Given the description of an element on the screen output the (x, y) to click on. 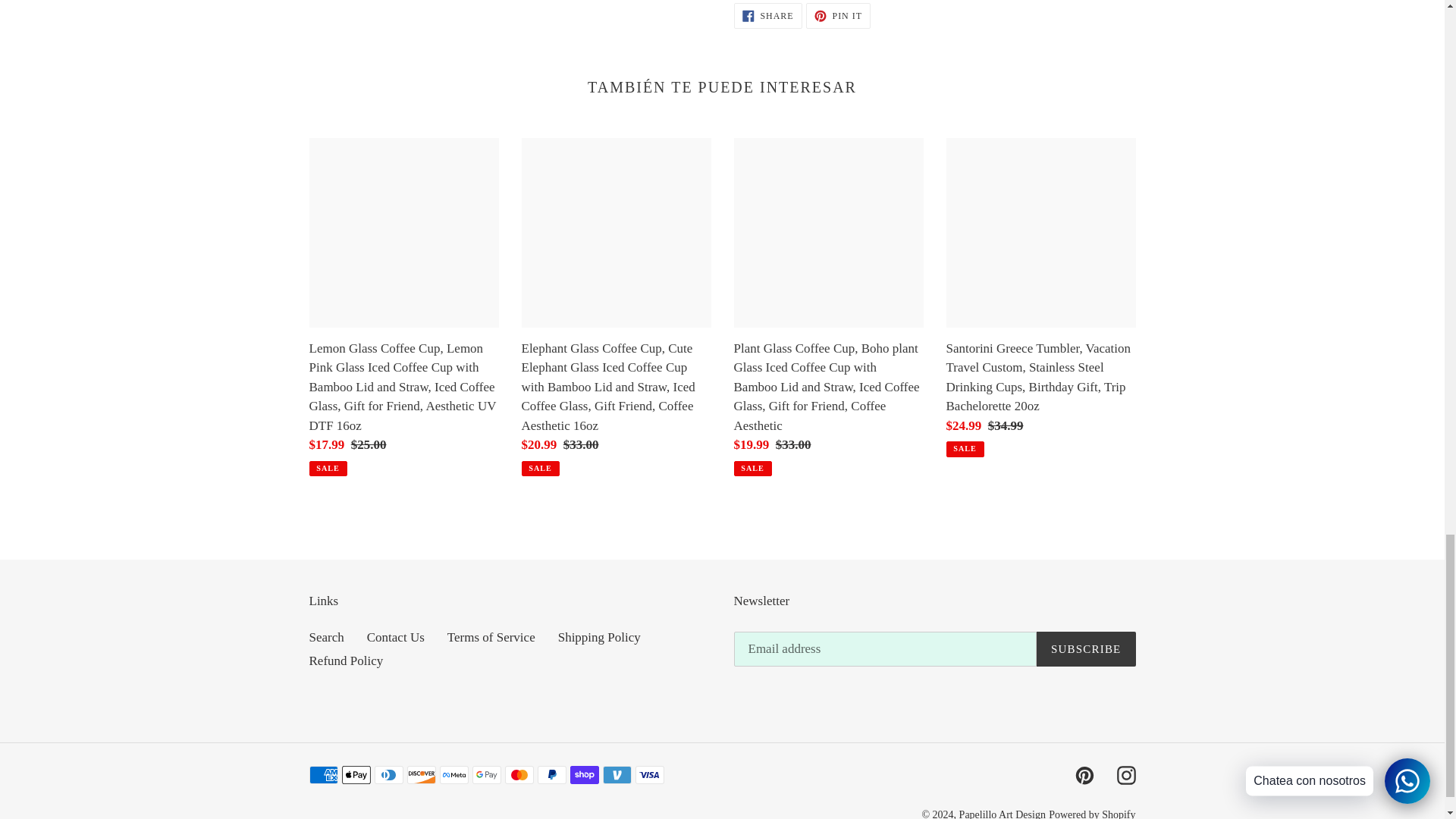
Shipping Policy (598, 636)
Refund Policy (346, 660)
Instagram (1125, 774)
Terms of Service (490, 636)
Contact Us (395, 636)
Papelillo Art Design (1002, 814)
Pinterest (1084, 774)
SUBSCRIBE (1085, 648)
Search (838, 15)
Powered by Shopify (767, 15)
